Given the description of an element on the screen output the (x, y) to click on. 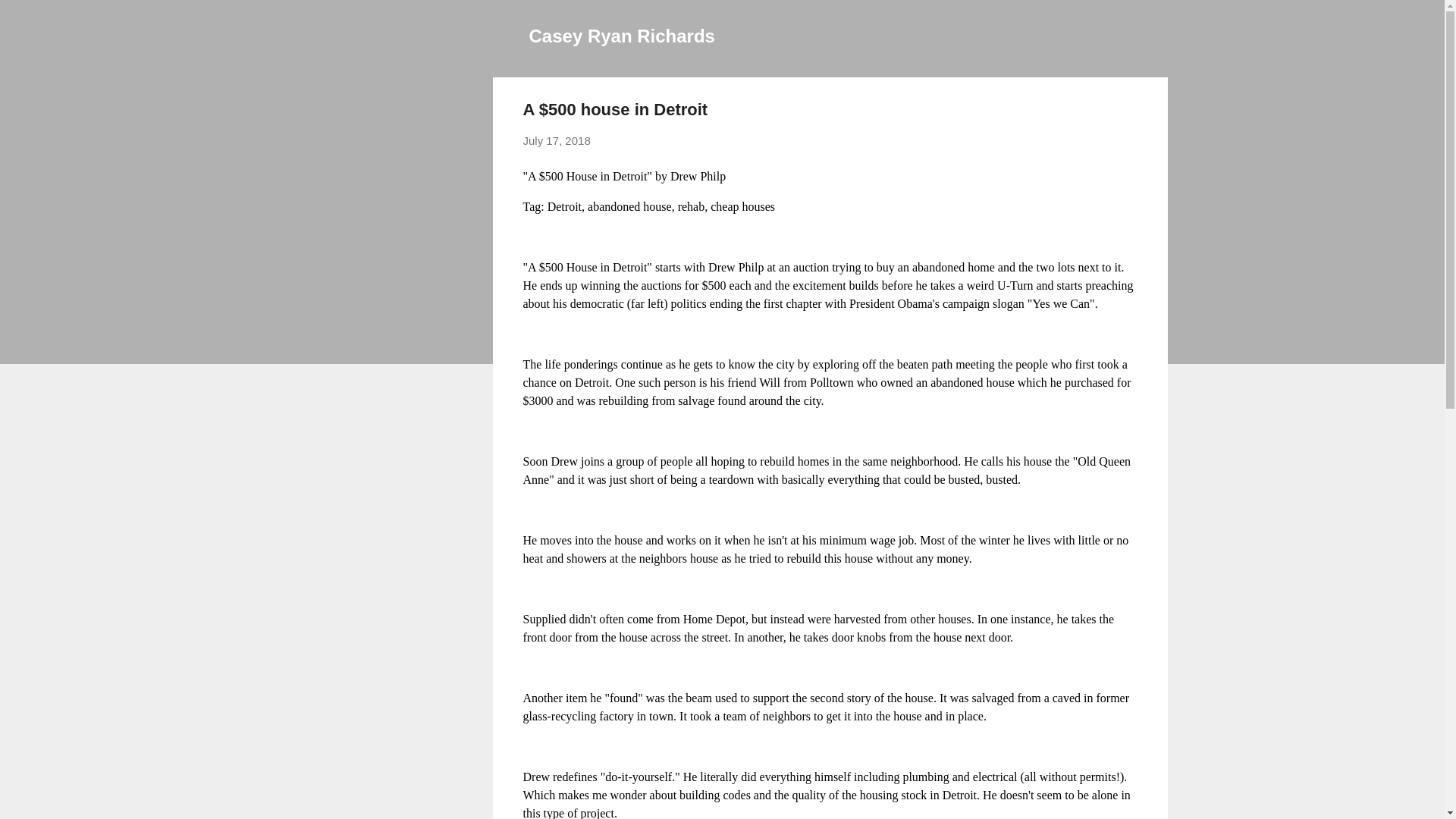
permanent link (556, 140)
Search (29, 18)
Casey Ryan Richards (621, 35)
July 17, 2018 (556, 140)
